Given the description of an element on the screen output the (x, y) to click on. 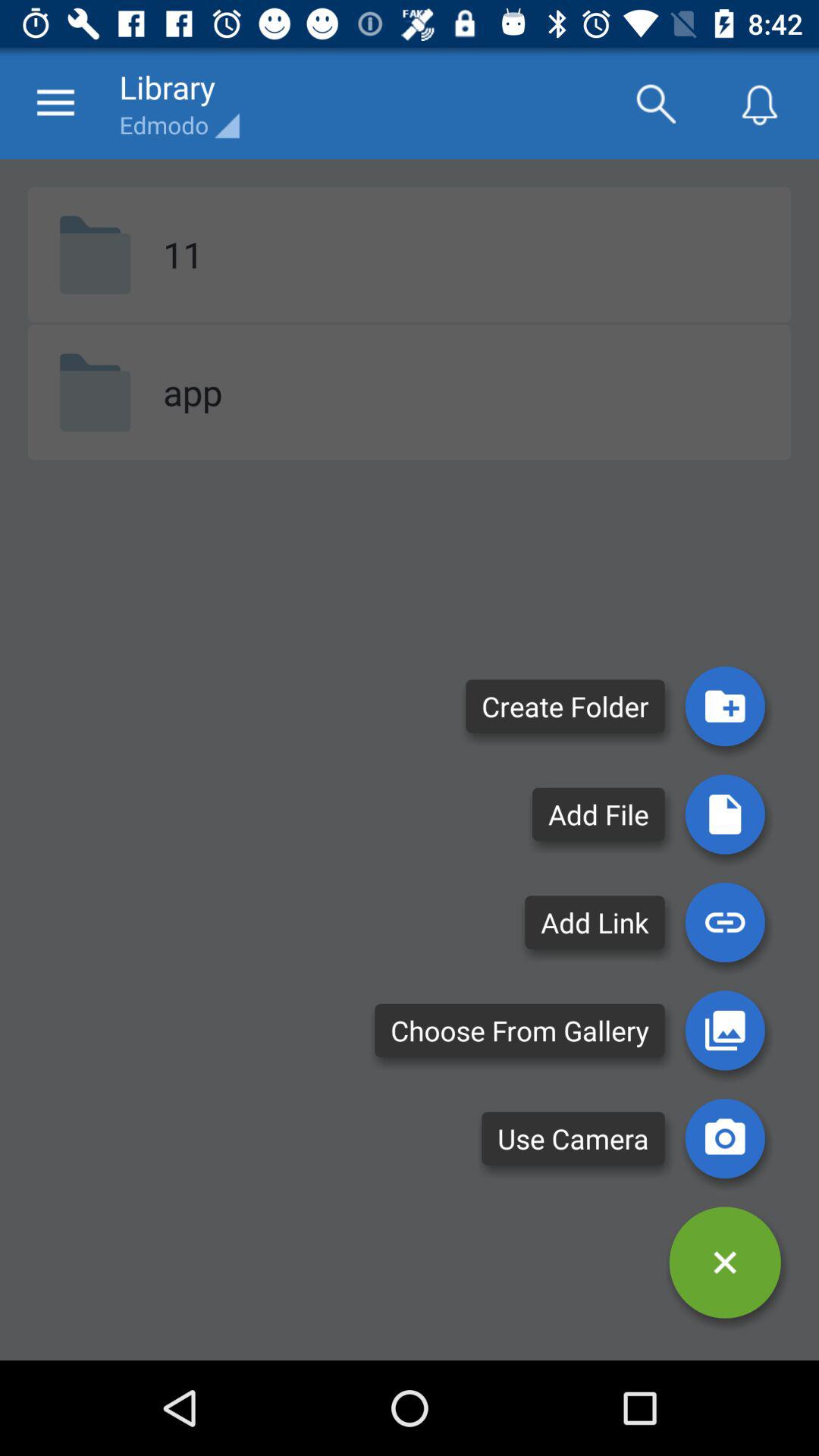
use camera (725, 1138)
